Given the description of an element on the screen output the (x, y) to click on. 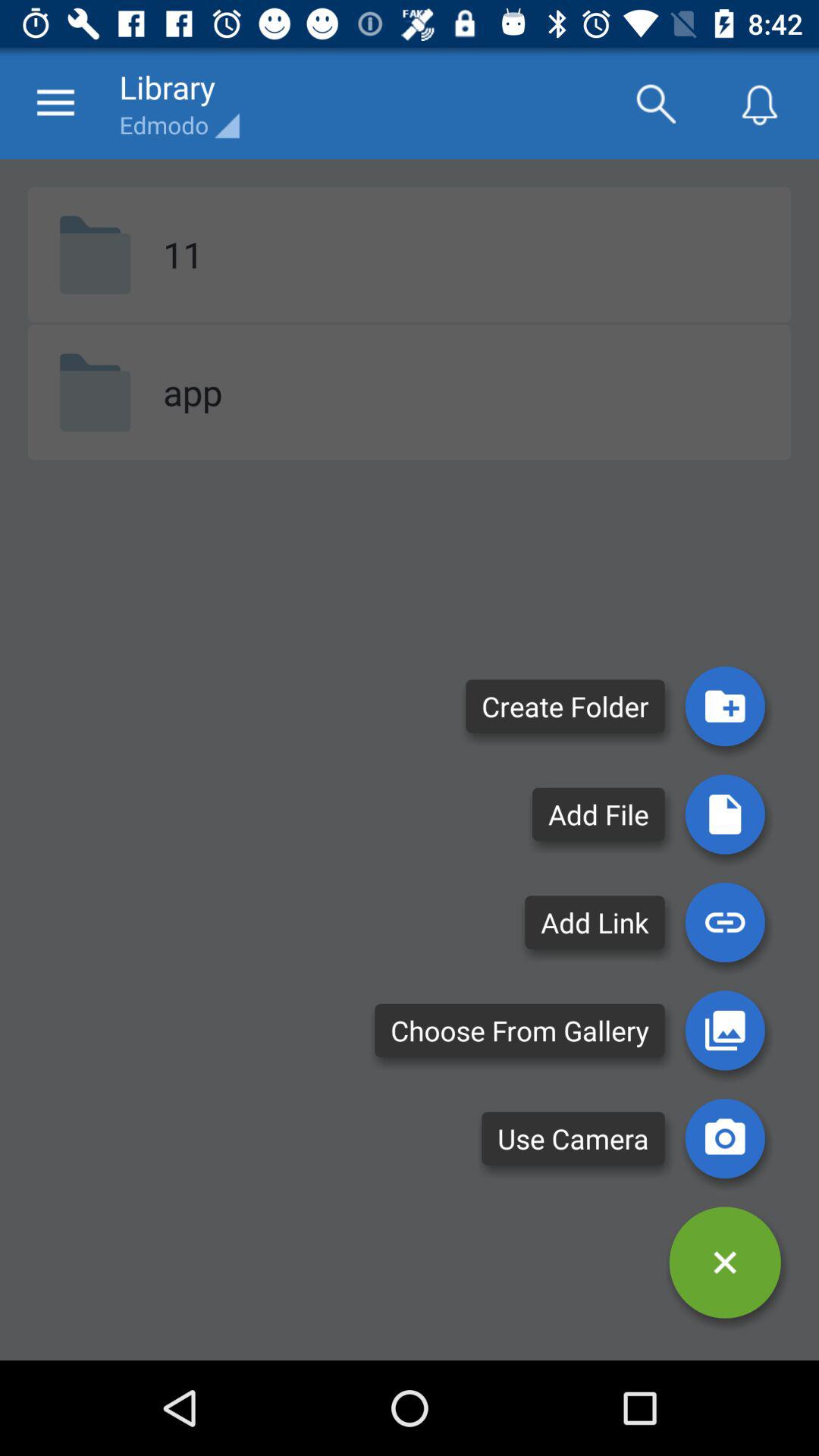
use camera (725, 1138)
